Given the description of an element on the screen output the (x, y) to click on. 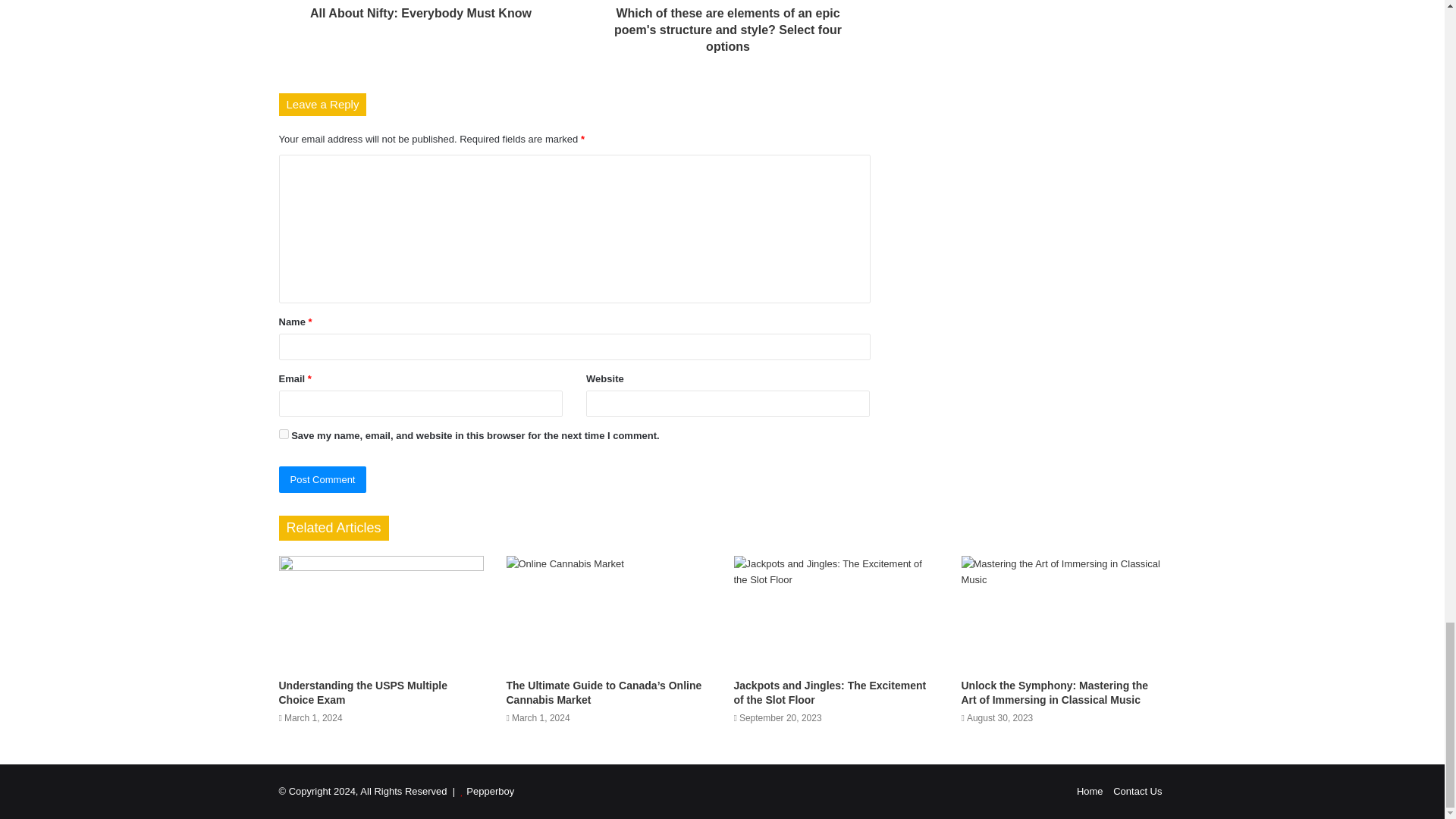
yes (283, 433)
Post Comment (322, 479)
